Given the description of an element on the screen output the (x, y) to click on. 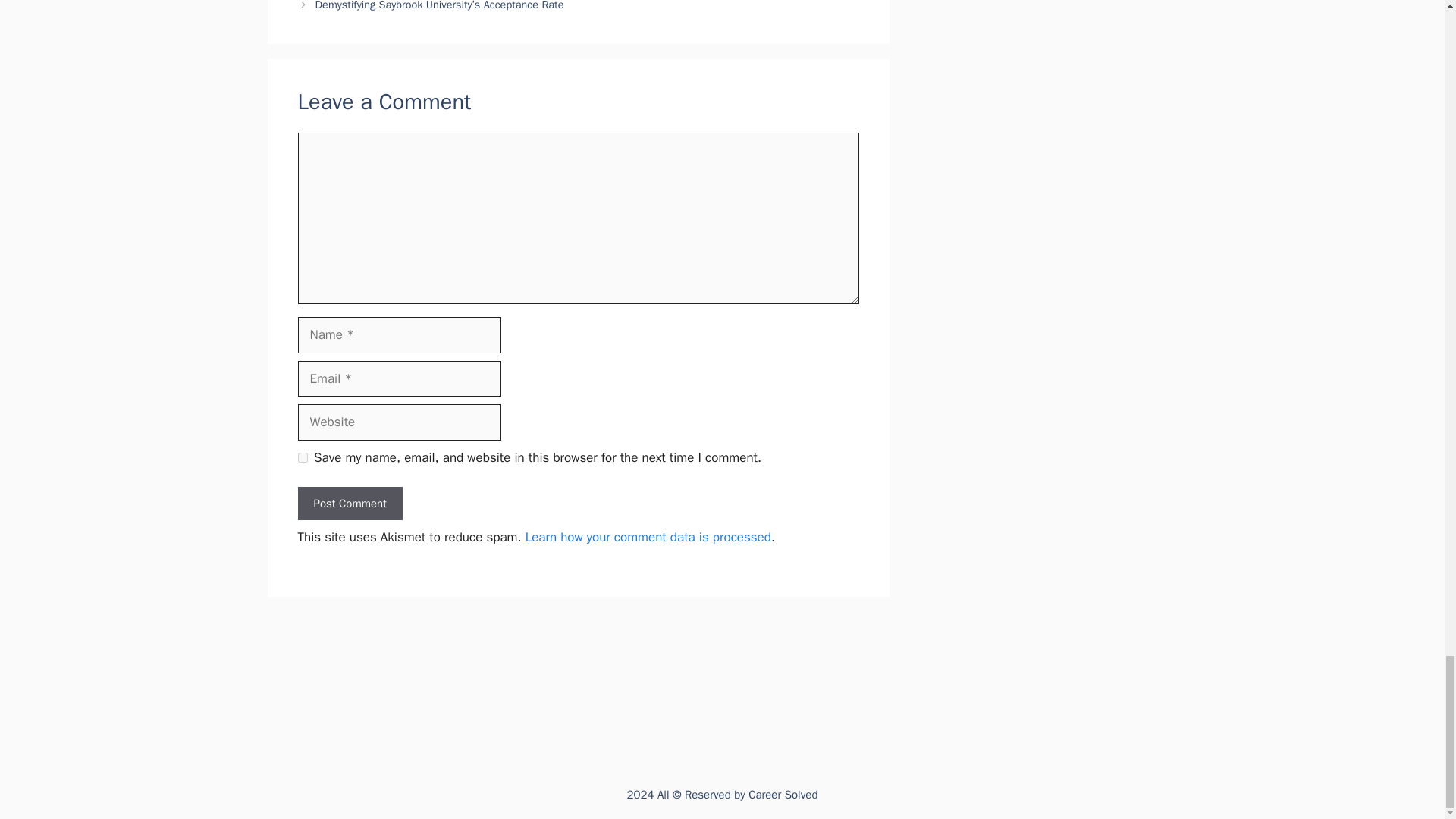
Post Comment (349, 503)
yes (302, 457)
Learn how your comment data is processed (648, 537)
Post Comment (349, 503)
